Given the description of an element on the screen output the (x, y) to click on. 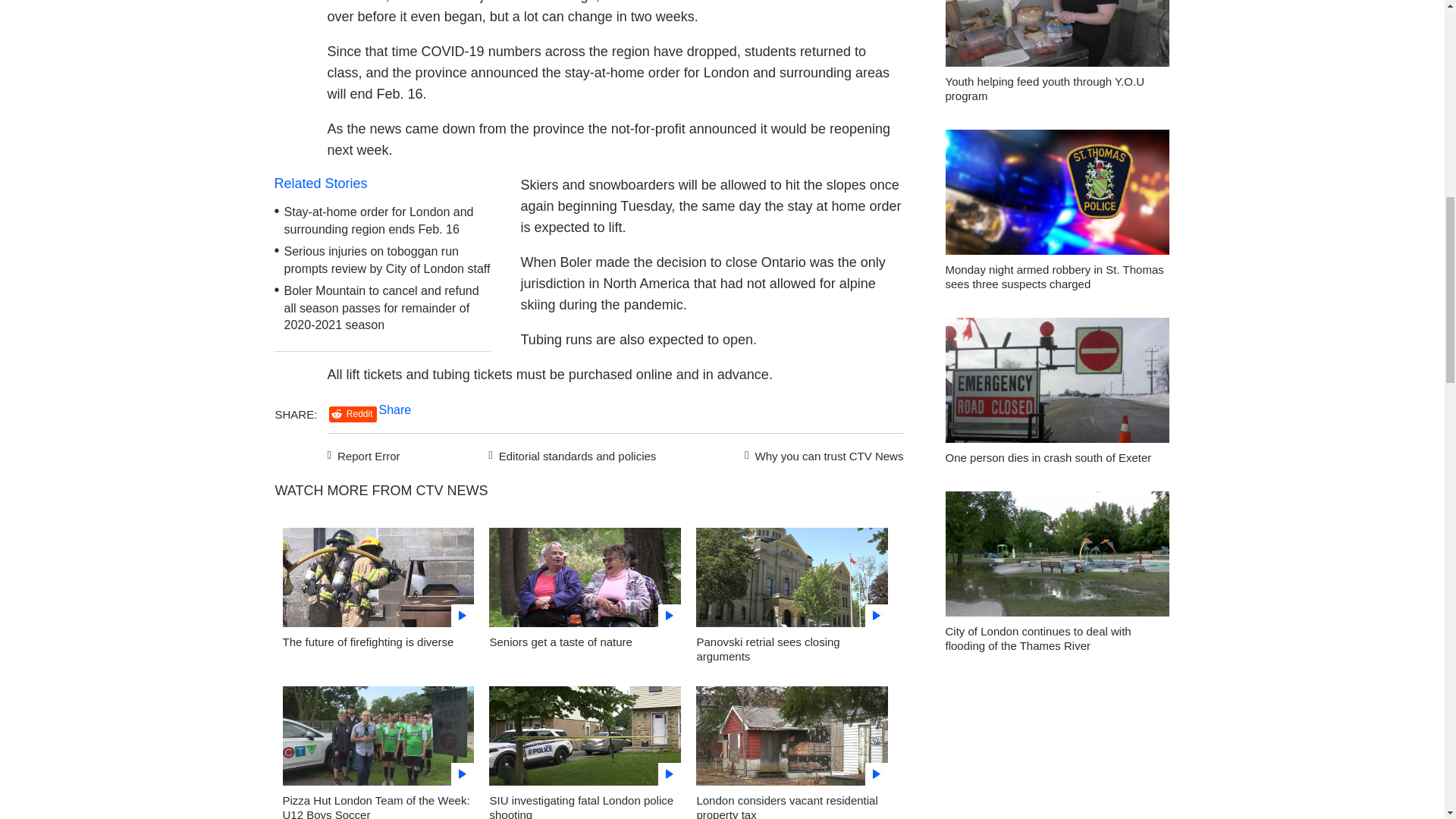
false (791, 735)
SIU investigating fatal London police shooting (580, 806)
Panovski retrial sees closing arguments (791, 581)
false (791, 577)
Panovski retrial sees closing arguments (767, 648)
London considers vacant residential property tax (786, 806)
false (585, 735)
glencoe u12 boys soccer (378, 739)
false (585, 577)
false (378, 577)
Report Error (363, 454)
The future of firefighting is diverse (367, 641)
SIU investigating fatal London police shooting  (585, 739)
